Given the description of an element on the screen output the (x, y) to click on. 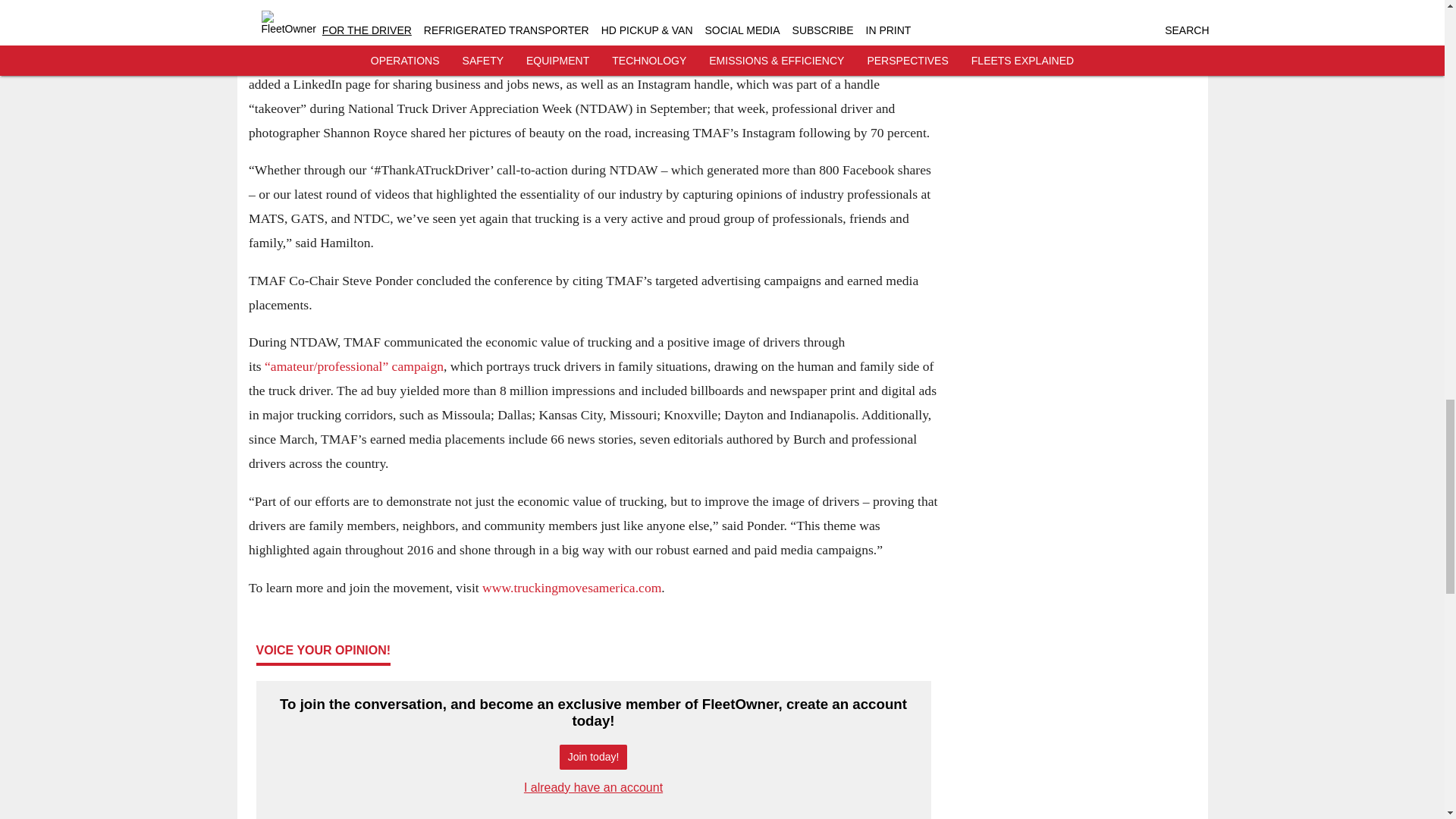
Join today! (593, 756)
I already have an account (593, 787)
www.truckingmovesamerica.com (571, 586)
